Given the description of an element on the screen output the (x, y) to click on. 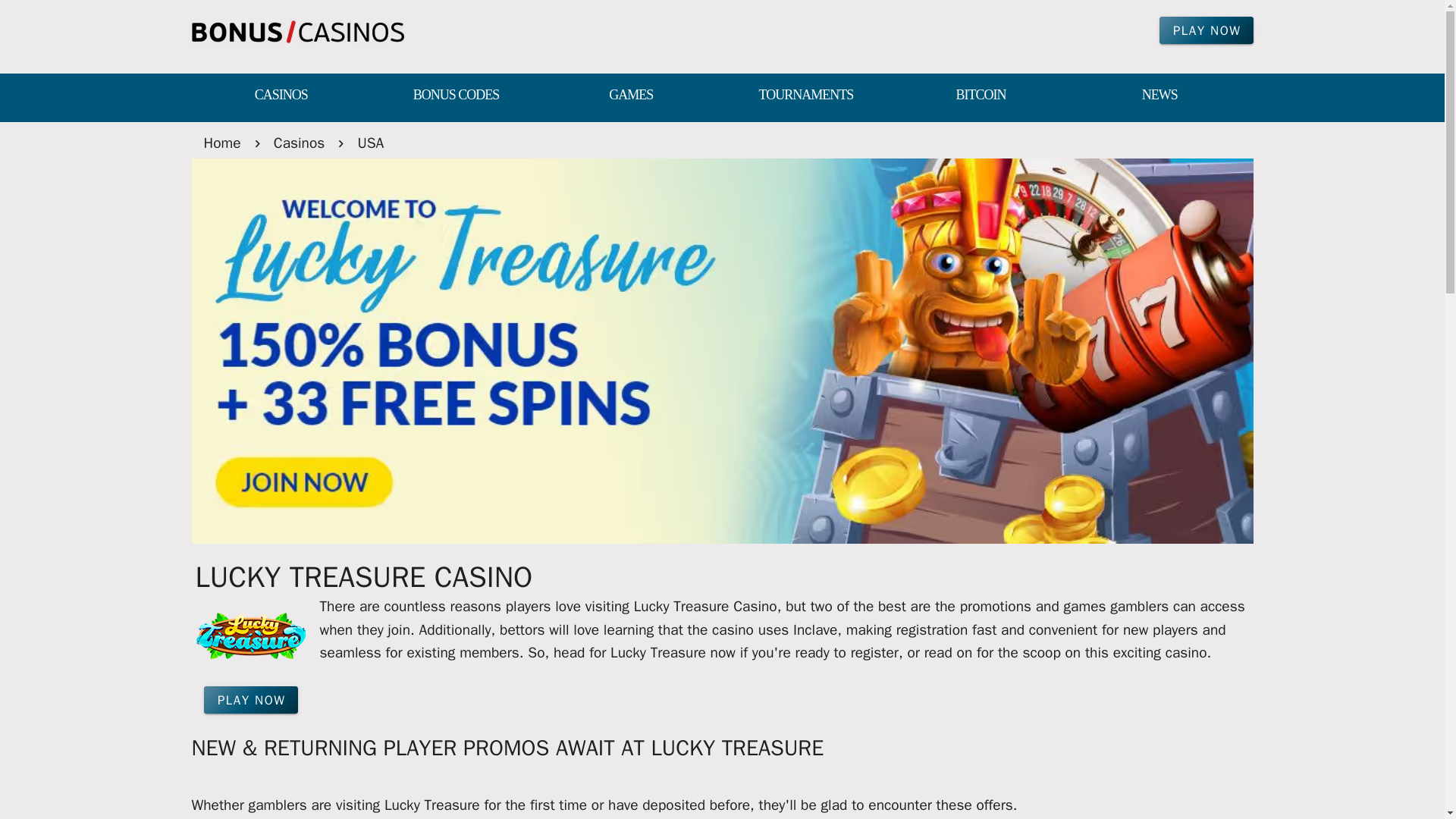
USA (370, 143)
GAMES (630, 95)
TOURNAMENTS (805, 95)
BONUS CODES (456, 95)
Home (221, 143)
BITCOIN (980, 95)
PLAY NOW (1205, 30)
Casinos (298, 143)
CASINOS (280, 95)
PLAY NOW (250, 699)
NEWS (1159, 95)
